Given the description of an element on the screen output the (x, y) to click on. 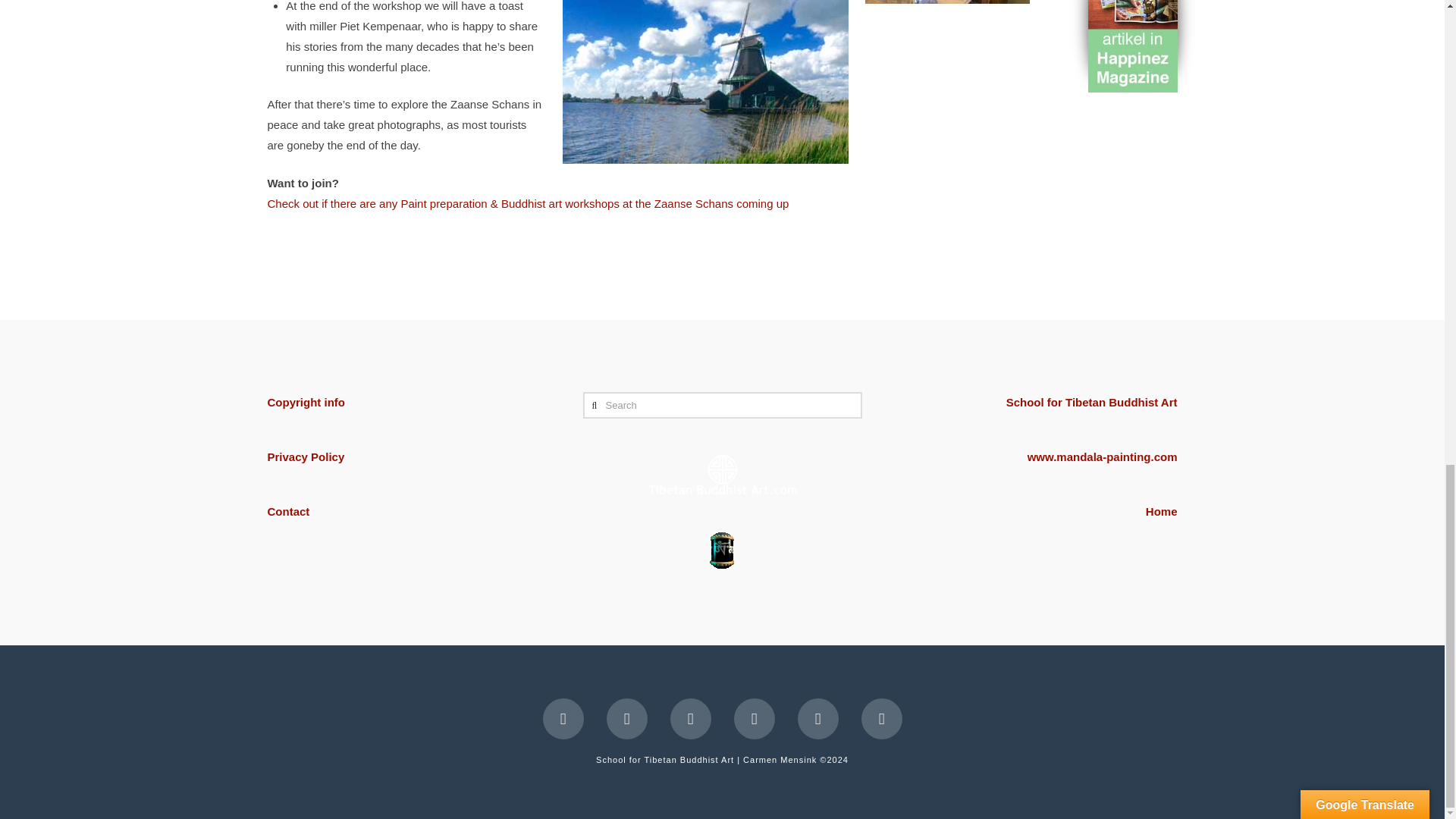
Join the School for Tibetan Buddhist Art (1091, 401)
copyright drawings and paintings of Carmen Mensink (304, 401)
Facebook (563, 718)
meaning of mandala and how to paint mandalas (1102, 456)
Privacy Policy of Carmen Mensink (304, 456)
